Given the description of an element on the screen output the (x, y) to click on. 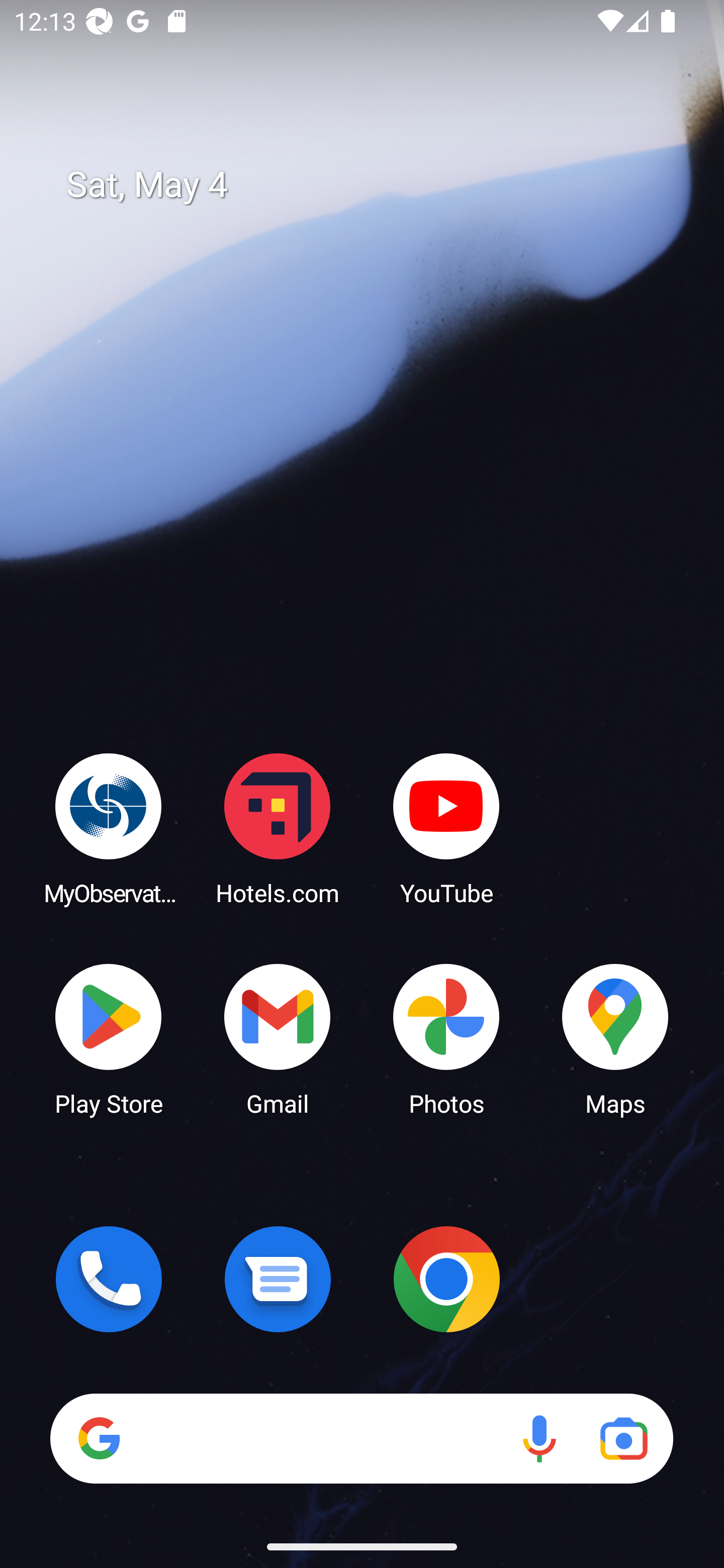
Sat, May 4 (375, 184)
MyObservatory (108, 828)
Hotels.com (277, 828)
YouTube (445, 828)
Play Store (108, 1038)
Gmail (277, 1038)
Photos (445, 1038)
Maps (615, 1038)
Phone (108, 1279)
Messages (277, 1279)
Chrome (446, 1279)
Search Voice search Google Lens (361, 1438)
Voice search (539, 1438)
Google Lens (623, 1438)
